Given the description of an element on the screen output the (x, y) to click on. 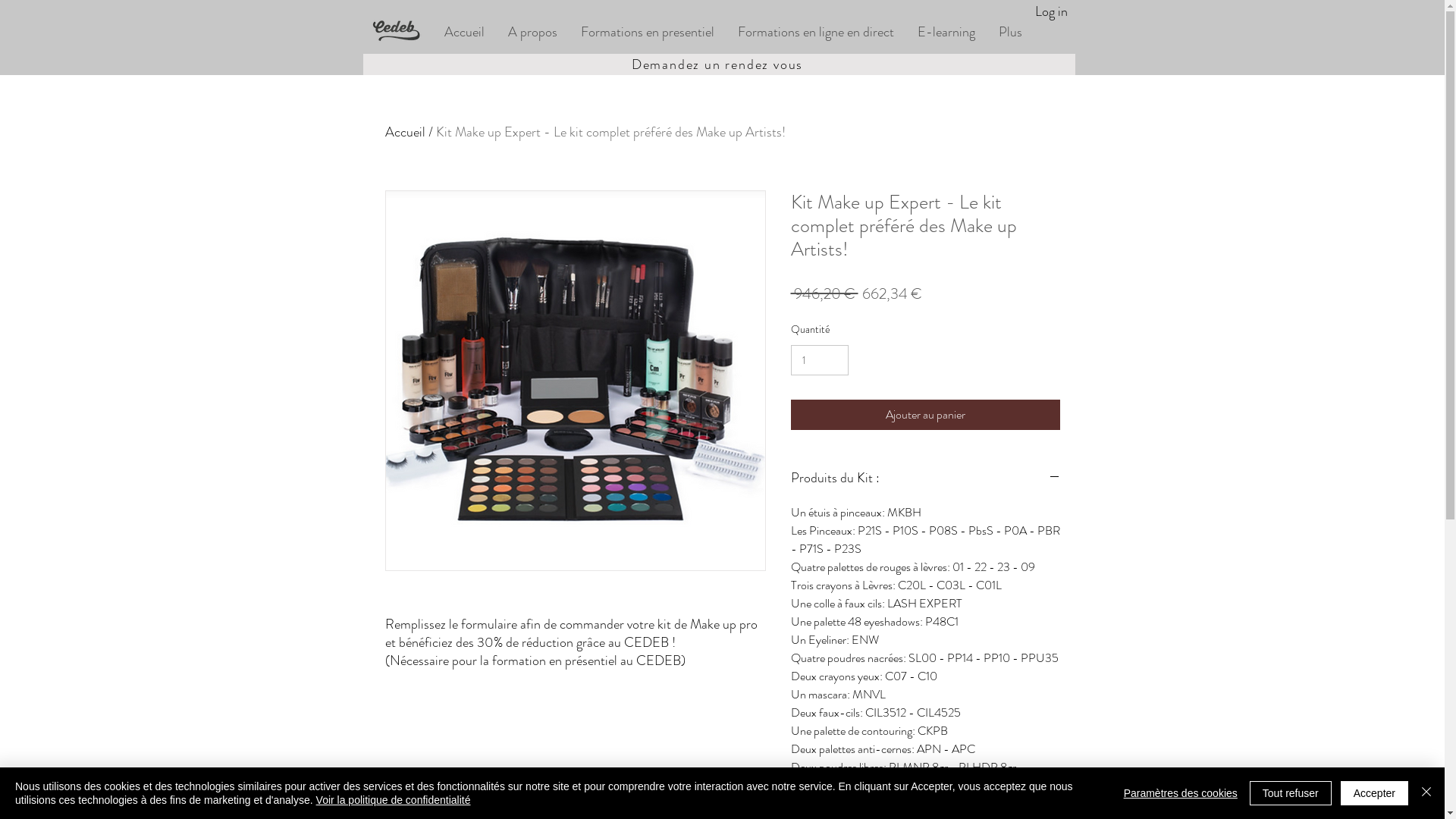
Produits du Kit : Element type: text (924, 478)
Accueil Element type: text (463, 32)
E-learning Element type: text (945, 32)
Formations en ligne en direct Element type: text (814, 32)
A propos Element type: text (531, 32)
Demandez un rendez vous Element type: text (718, 64)
Design sans titre (1).png Element type: hover (401, 31)
Tout refuser Element type: text (1290, 793)
Accepter Element type: text (1374, 793)
Ajouter au panier Element type: text (924, 414)
Formations en presentiel Element type: text (646, 32)
Accueil Element type: text (405, 131)
